Given the description of an element on the screen output the (x, y) to click on. 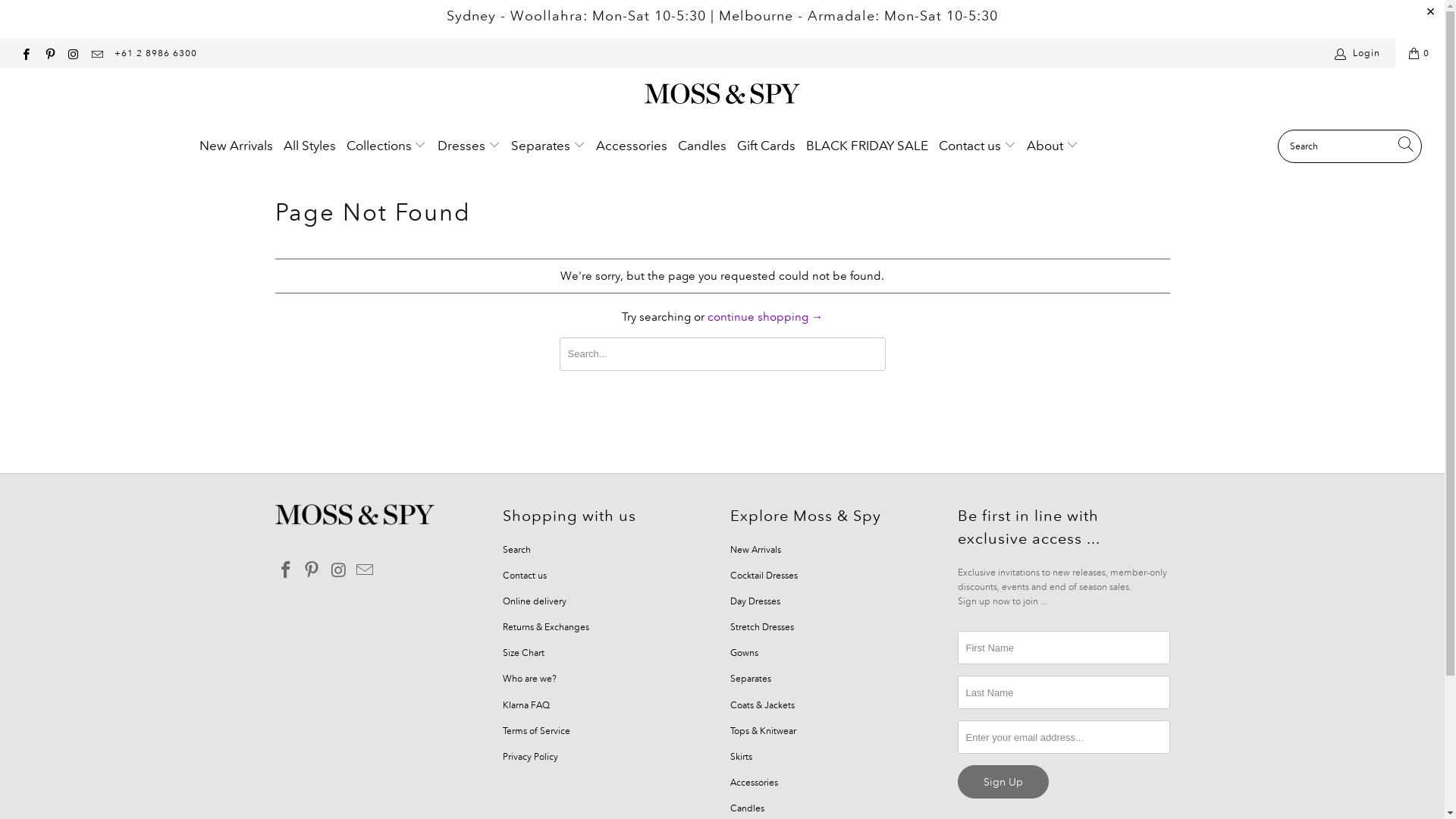
Cocktail Dresses Element type: text (763, 574)
About Element type: text (1052, 145)
Candles Element type: text (701, 145)
Contact us Element type: text (524, 574)
Collections Element type: text (386, 145)
MOSS & SPY on Facebook Element type: hover (24, 52)
Klarna FAQ Element type: text (525, 704)
Accessories Element type: text (631, 145)
BLACK FRIDAY SALE Element type: text (867, 145)
MOSS & SPY on Pinterest Element type: hover (312, 570)
Coats & Jackets Element type: text (761, 704)
Online delivery Element type: text (533, 600)
Who are we? Element type: text (528, 678)
Candles Element type: text (746, 807)
Dresses Element type: text (468, 145)
Day Dresses Element type: text (754, 600)
Tops & Knitwear Element type: text (762, 730)
Separates Element type: text (548, 145)
Accessories Element type: text (753, 781)
Separates Element type: text (749, 678)
Skirts Element type: text (740, 756)
MOSS & SPY on Instagram Element type: hover (338, 570)
MOSS & SPY on Pinterest Element type: hover (48, 52)
Login Element type: text (1358, 52)
Stretch Dresses Element type: text (761, 626)
Gift Cards Element type: text (766, 145)
Contact us Element type: text (977, 145)
Email MOSS & SPY Element type: hover (365, 570)
MOSS & SPY on Instagram Element type: hover (72, 52)
MOSS & SPY Element type: hover (722, 95)
All Styles Element type: text (309, 145)
0 Element type: text (1419, 52)
Size Chart Element type: text (522, 652)
Returns & Exchanges Element type: text (545, 626)
Terms of Service Element type: text (535, 730)
Privacy Policy Element type: text (529, 756)
Email MOSS & SPY Element type: hover (96, 52)
MOSS & SPY on Facebook Element type: hover (285, 570)
Gowns Element type: text (743, 652)
Sign Up Element type: text (1002, 781)
New Arrivals Element type: text (754, 548)
+61 2 8986 6300 Element type: text (155, 52)
New Arrivals Element type: text (236, 145)
Search Element type: text (516, 548)
